Given the description of an element on the screen output the (x, y) to click on. 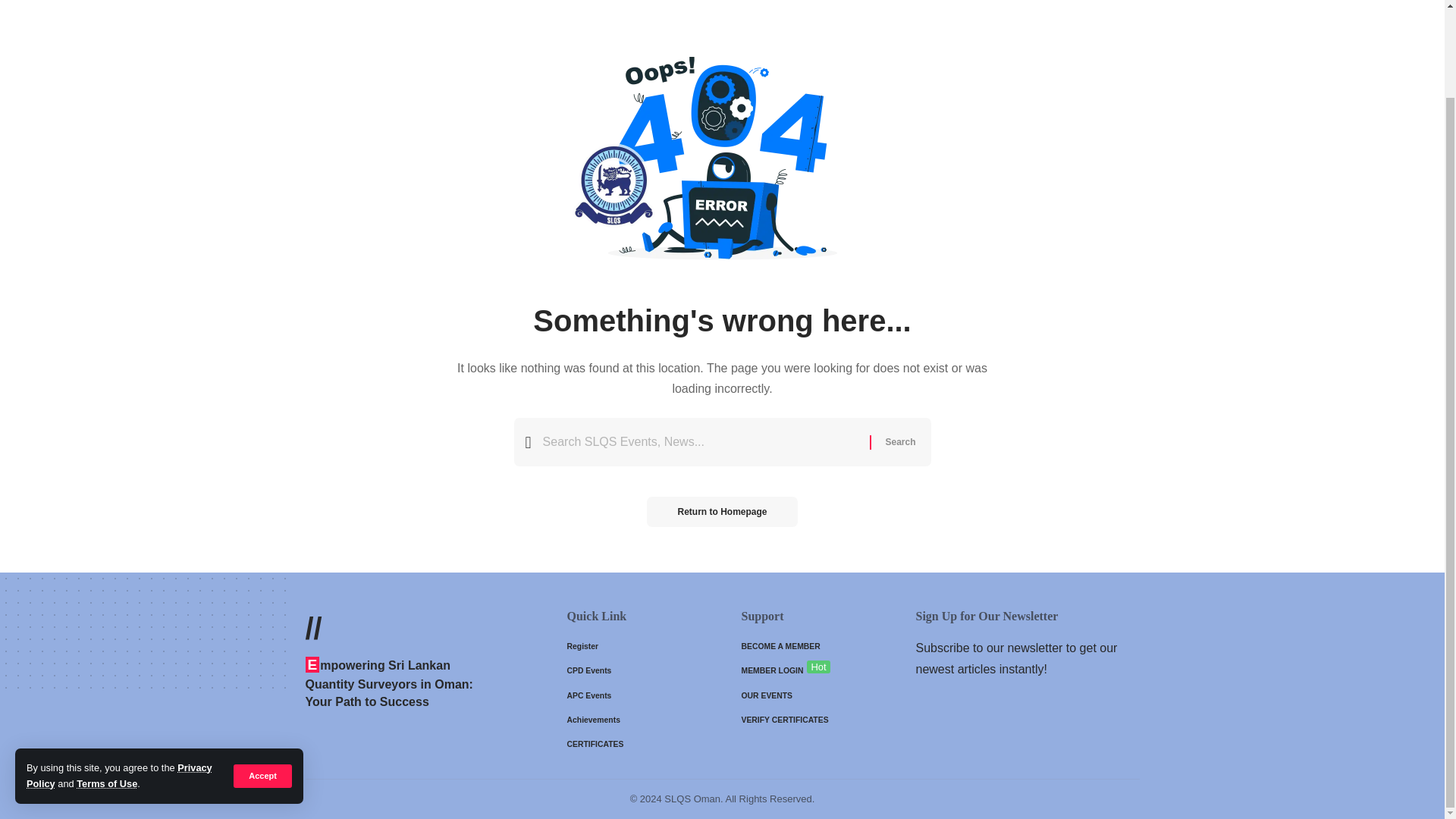
Terms of Use (106, 684)
Privacy Policy (119, 675)
Accept (262, 676)
Search (899, 441)
